Given the description of an element on the screen output the (x, y) to click on. 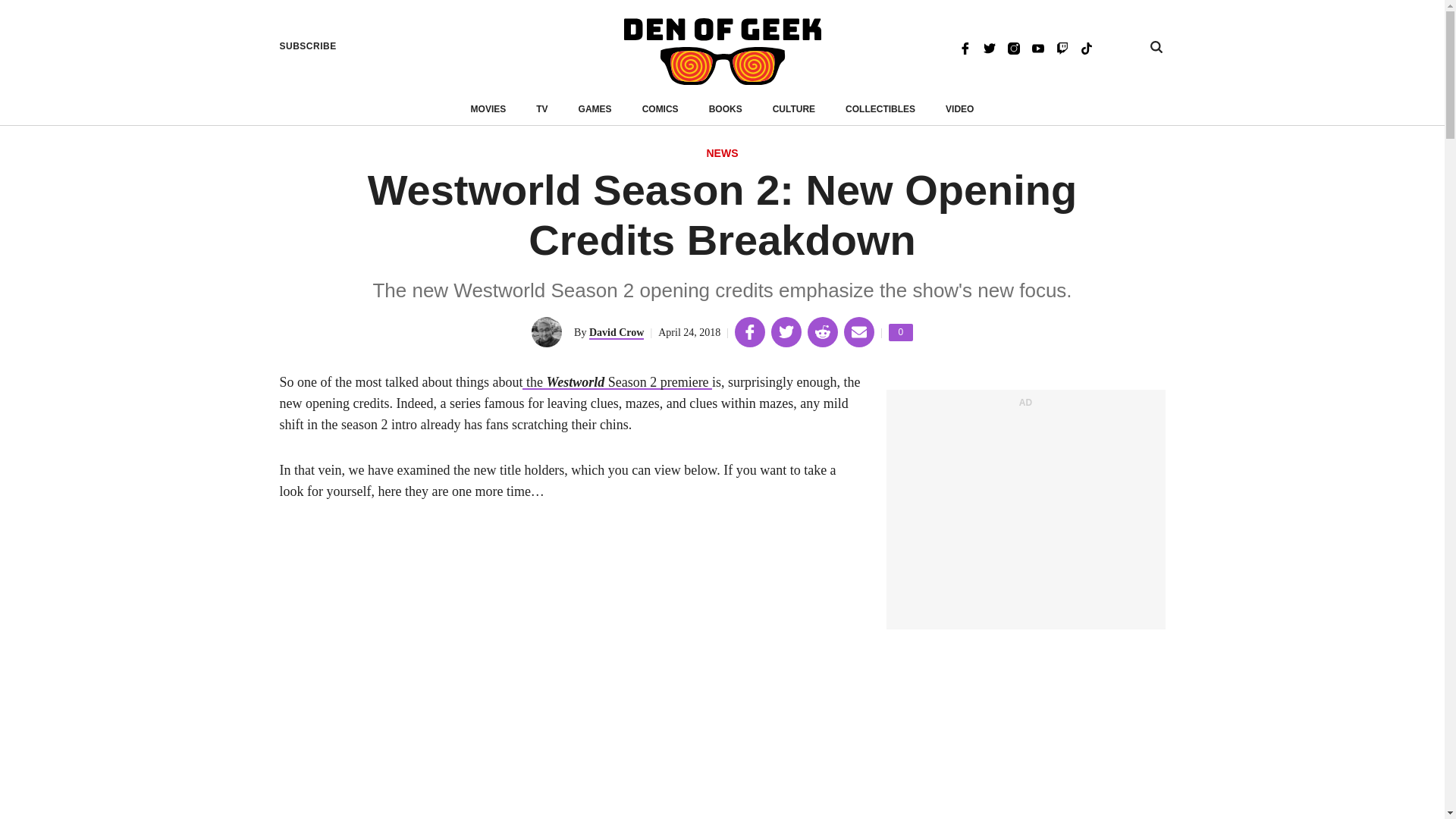
SUBSCRIBE (307, 46)
COMICS (660, 109)
TikTok (1085, 46)
COLLECTIBLES (880, 109)
Westworld Season 2 Episode 1 Review: Journey Into Night (616, 381)
Den of Geek (722, 52)
BOOKS (725, 109)
the Westworld Season 2 premiere (616, 381)
MOVIES (488, 109)
CULTURE (794, 109)
VIDEO (959, 109)
David Crow (616, 332)
GAMES (594, 109)
Twitch (1061, 46)
Twitter (988, 46)
